Given the description of an element on the screen output the (x, y) to click on. 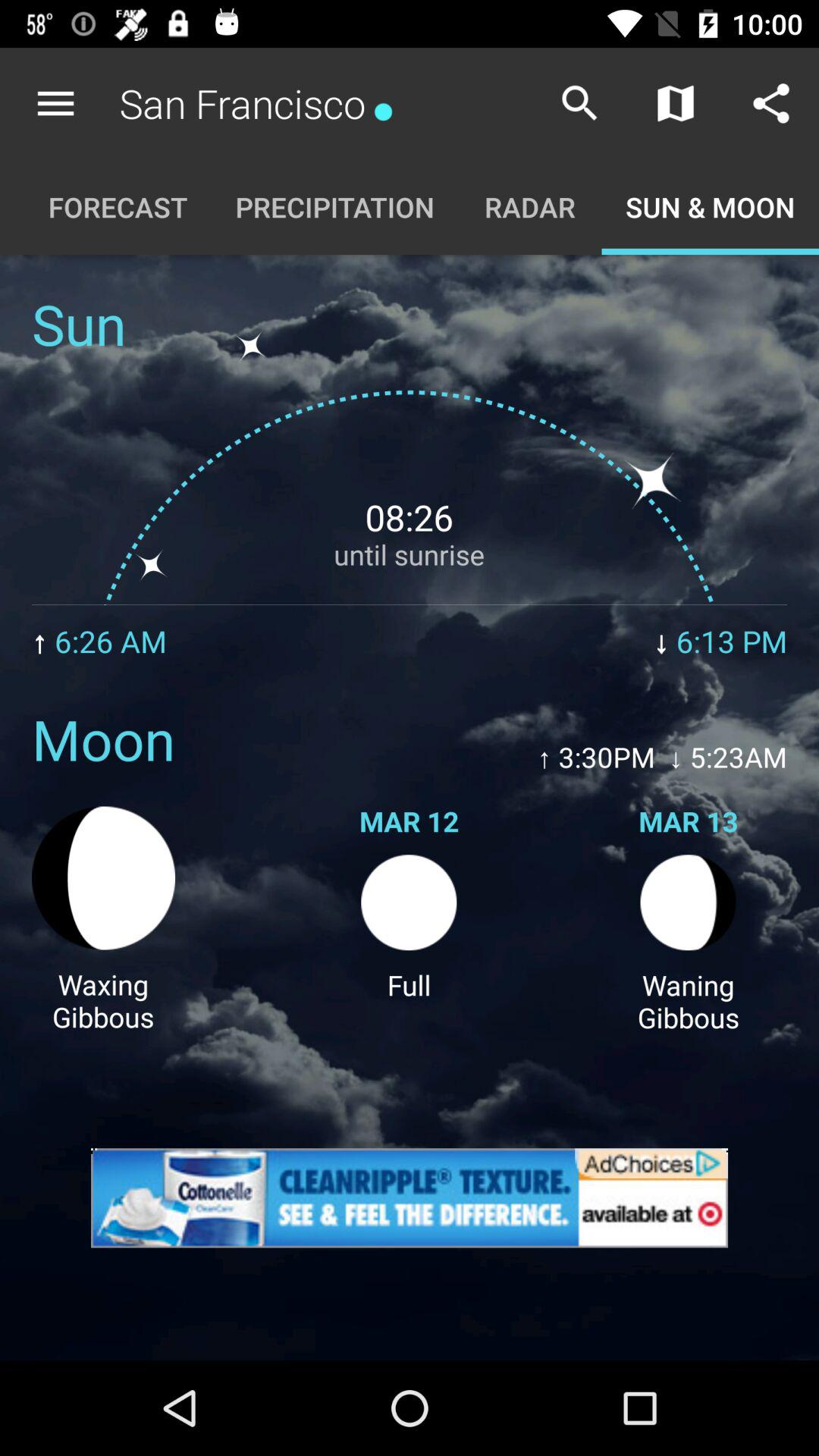
open the icon above sun & moon (771, 103)
